Given the description of an element on the screen output the (x, y) to click on. 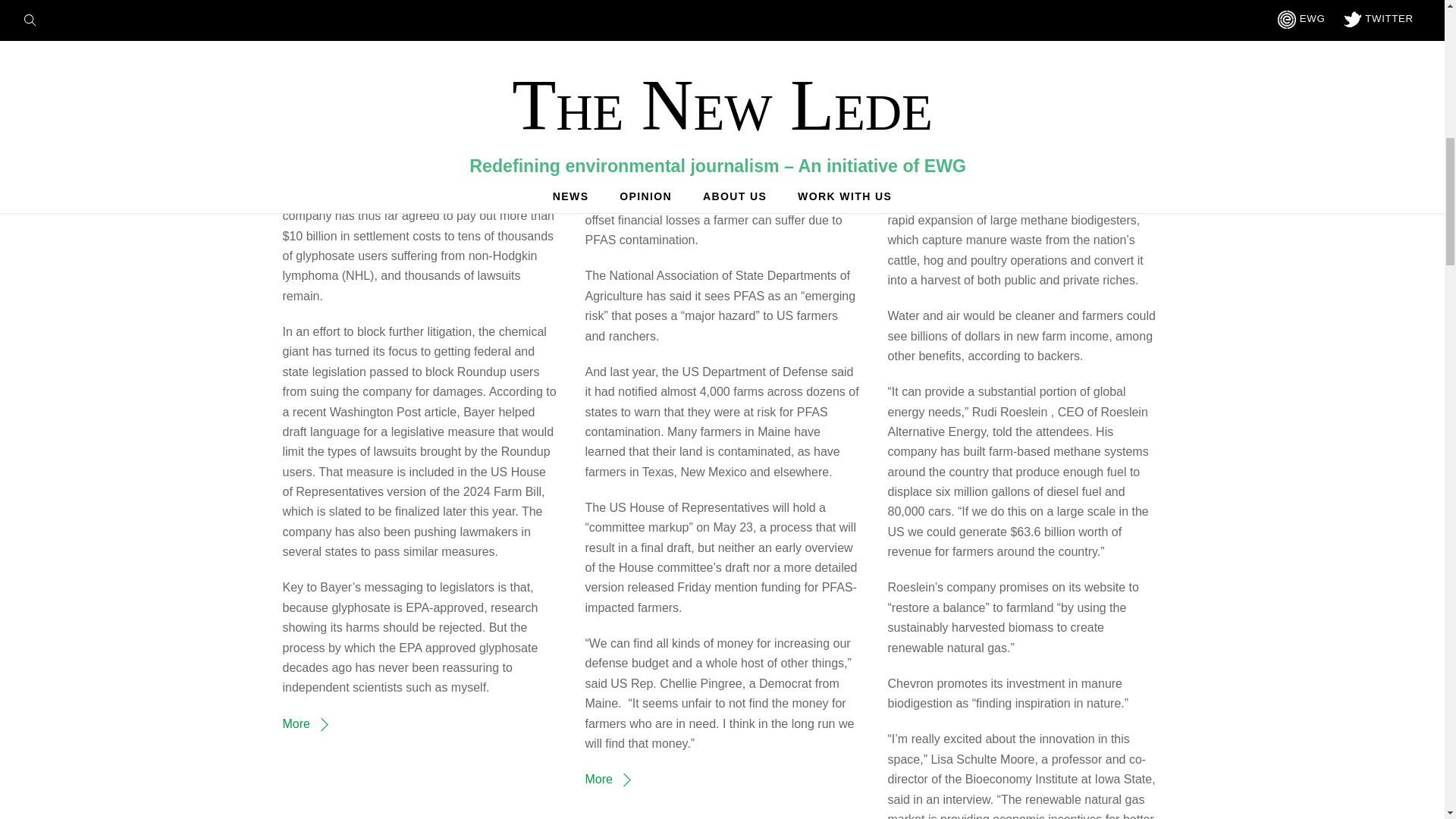
More (304, 723)
More (606, 779)
